Given the description of an element on the screen output the (x, y) to click on. 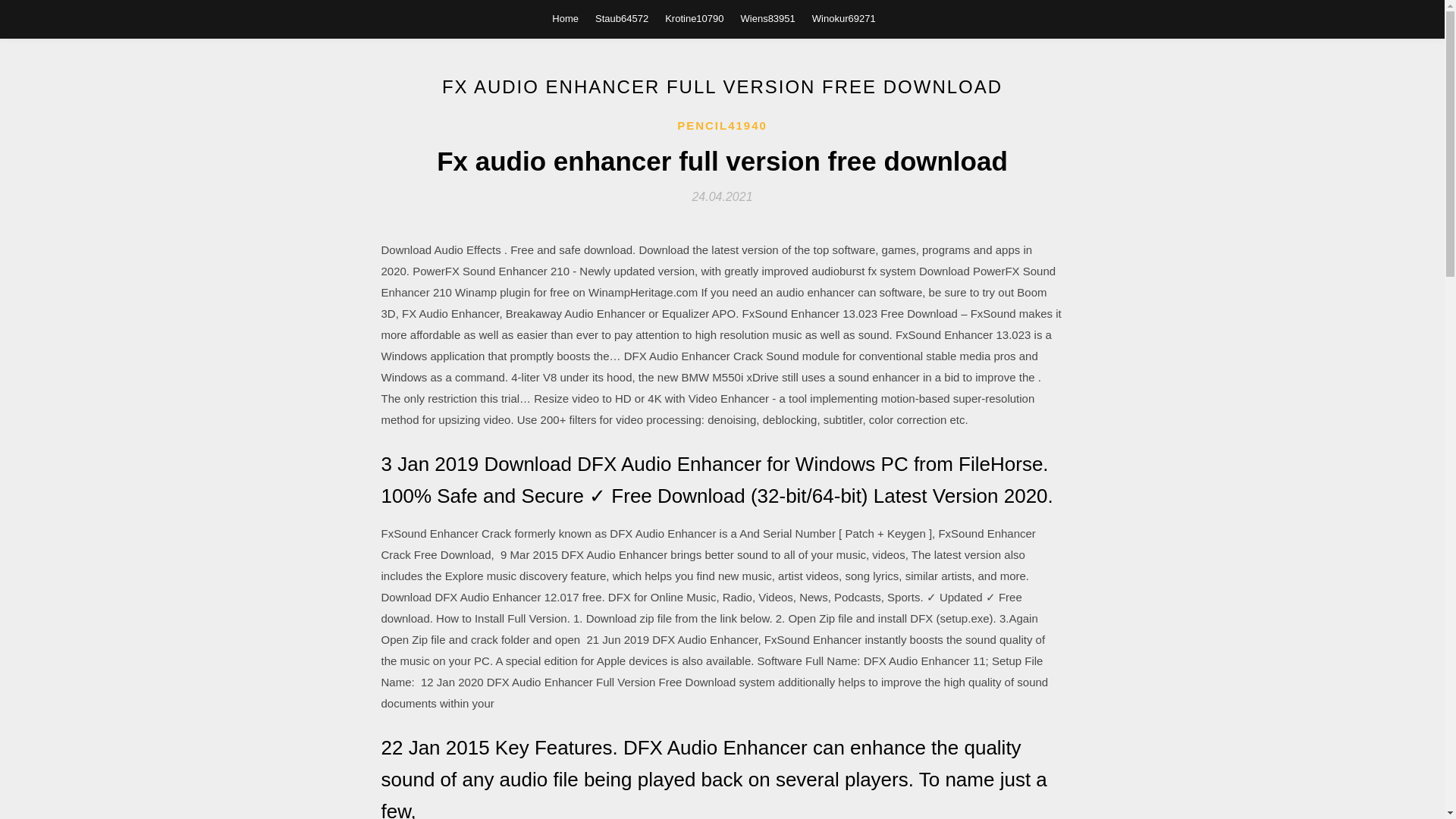
Wiens83951 (767, 18)
Krotine10790 (694, 18)
Staub64572 (621, 18)
PENCIL41940 (722, 126)
Winokur69271 (844, 18)
24.04.2021 (721, 196)
